Given the description of an element on the screen output the (x, y) to click on. 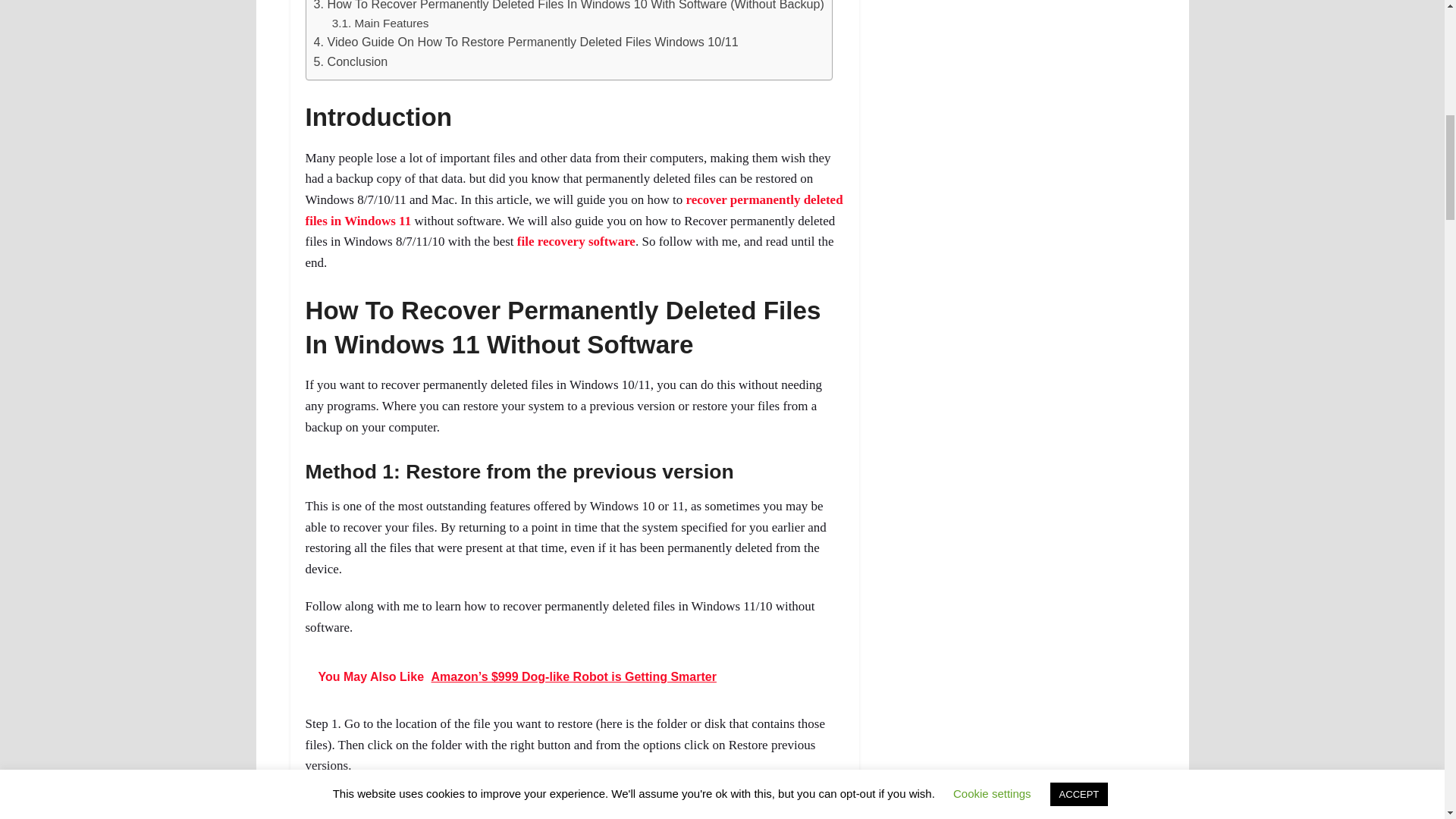
Conclusion (351, 60)
Main Features (380, 22)
